Given the description of an element on the screen output the (x, y) to click on. 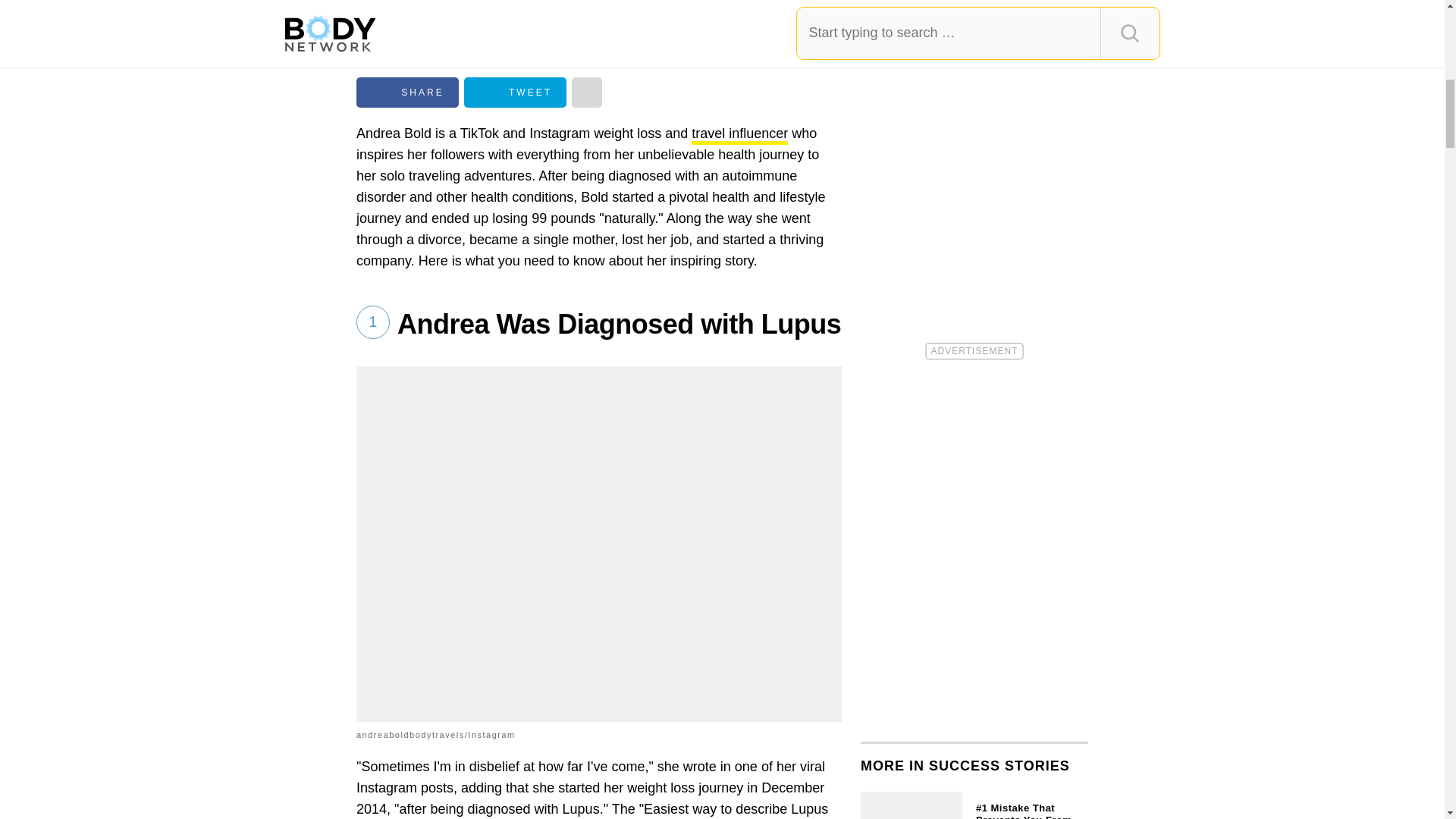
travel influencer (739, 135)
Twitter (515, 91)
Facebook (407, 91)
Share on Twitter (515, 91)
Share via e-mail (587, 91)
Share on Facebook (407, 91)
